Given the description of an element on the screen output the (x, y) to click on. 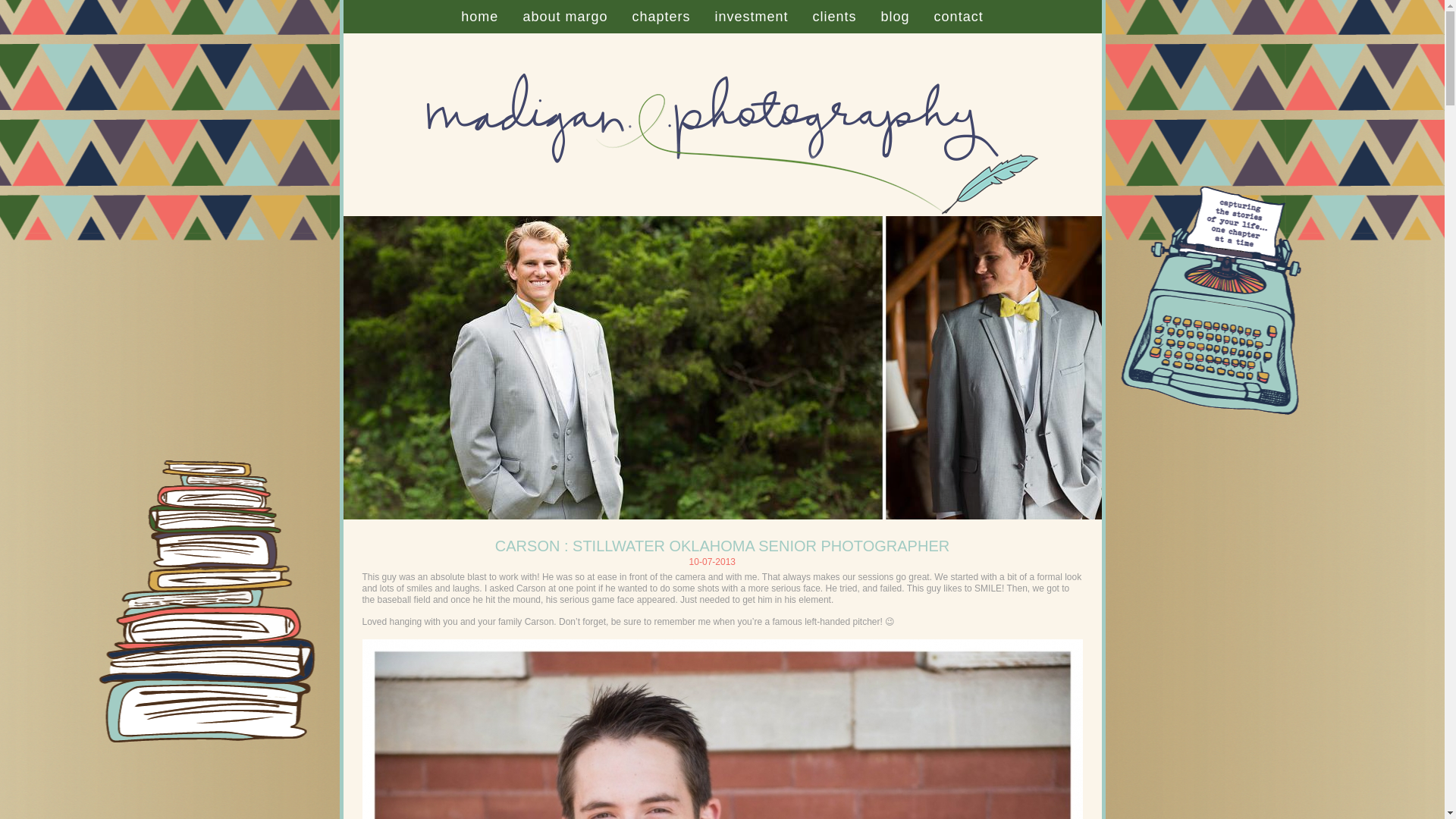
madigan.e.photography.blog (479, 16)
investment (750, 16)
madigan.e.photography.blog (721, 213)
about margo (564, 16)
contact (959, 16)
blog (895, 16)
clients (834, 16)
chapters (660, 16)
home (479, 16)
